Given the description of an element on the screen output the (x, y) to click on. 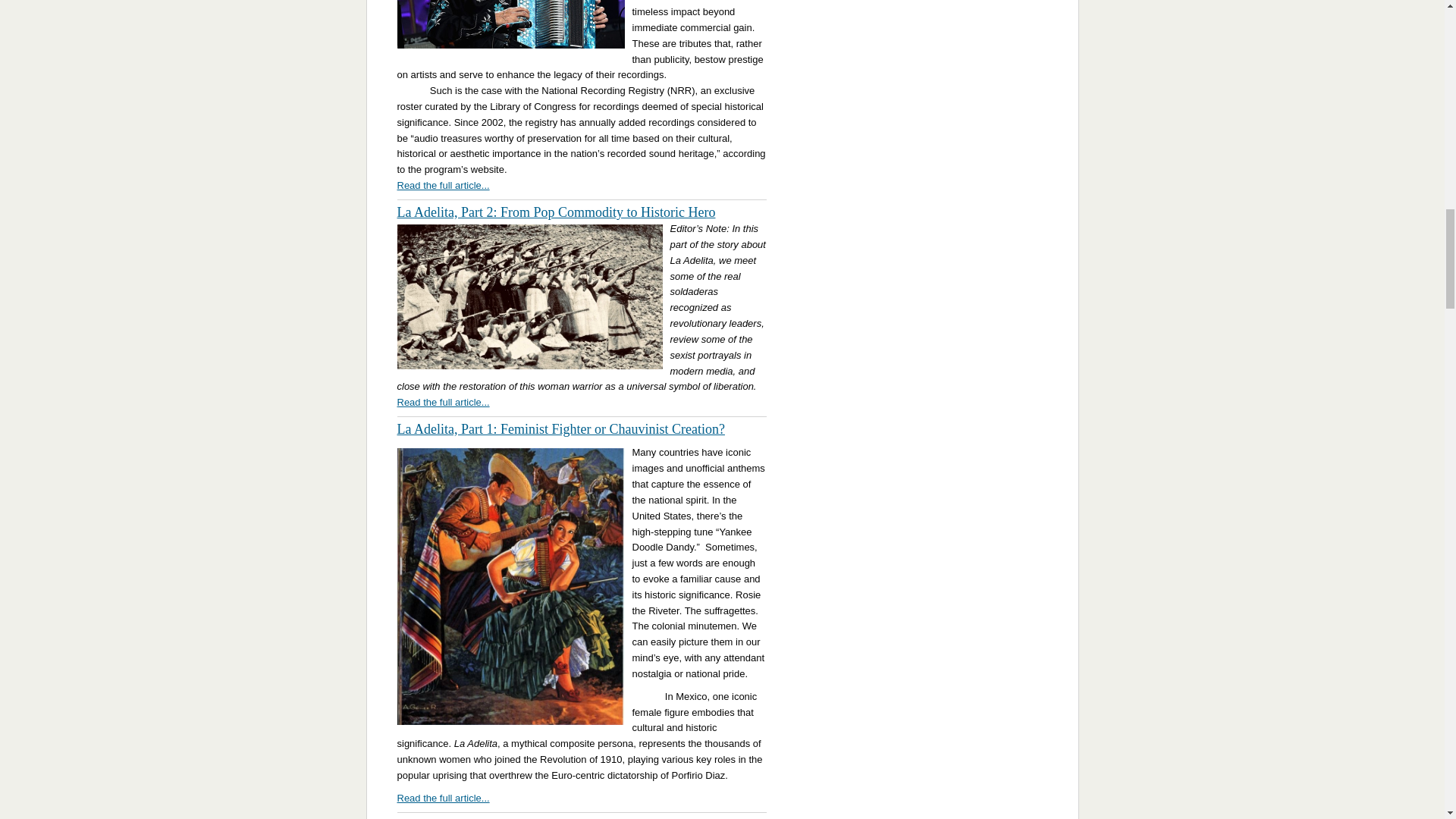
Read the full article... (443, 184)
La Adelita, Part 1: Feminist Fighter or Chauvinist Creation? (561, 428)
La Adelita, Part 2: From Pop Commodity to Historic Hero (556, 212)
Read the full article... (443, 797)
Read the full article... (443, 401)
